Given the description of an element on the screen output the (x, y) to click on. 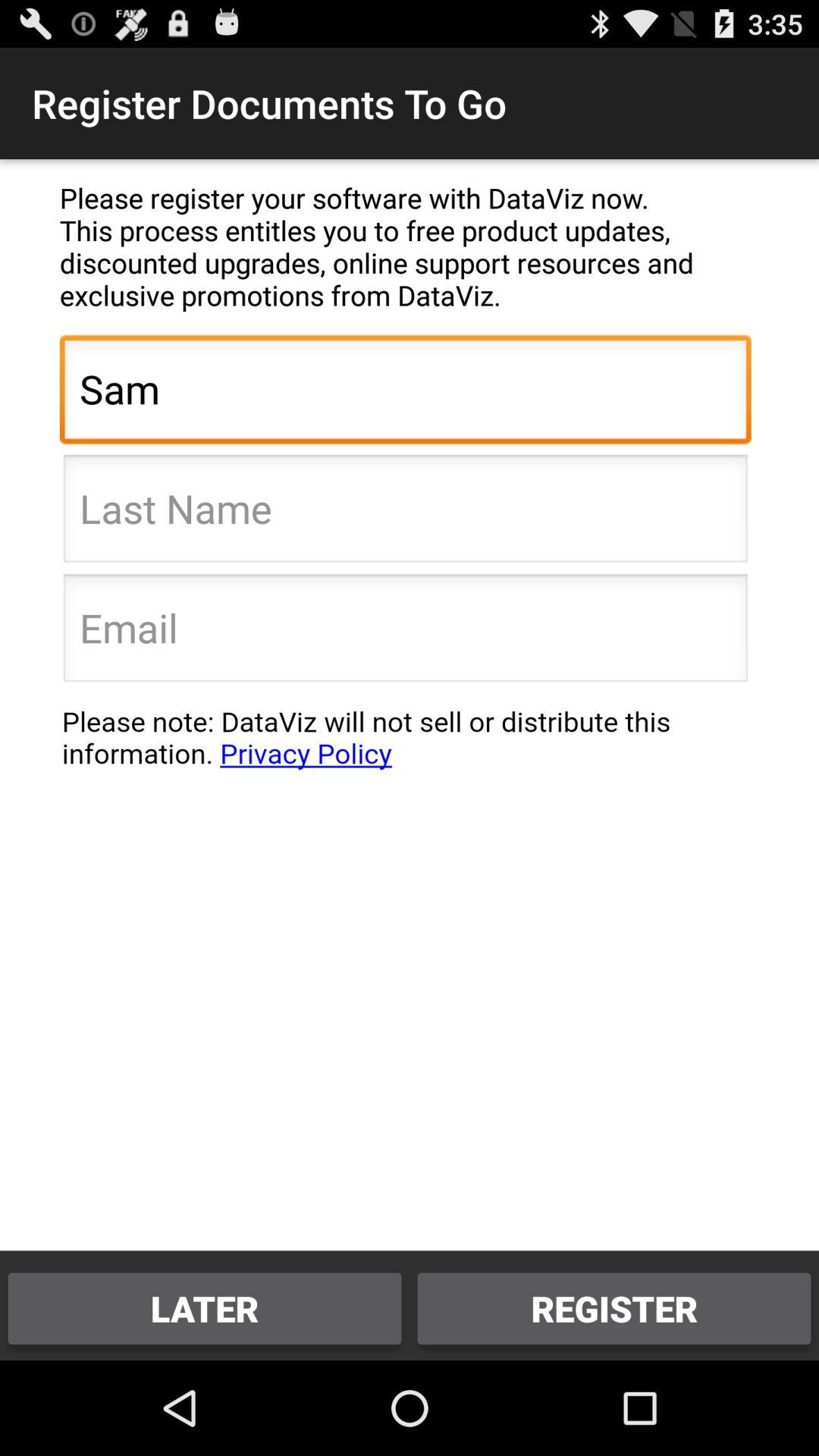
email (405, 632)
